Given the description of an element on the screen output the (x, y) to click on. 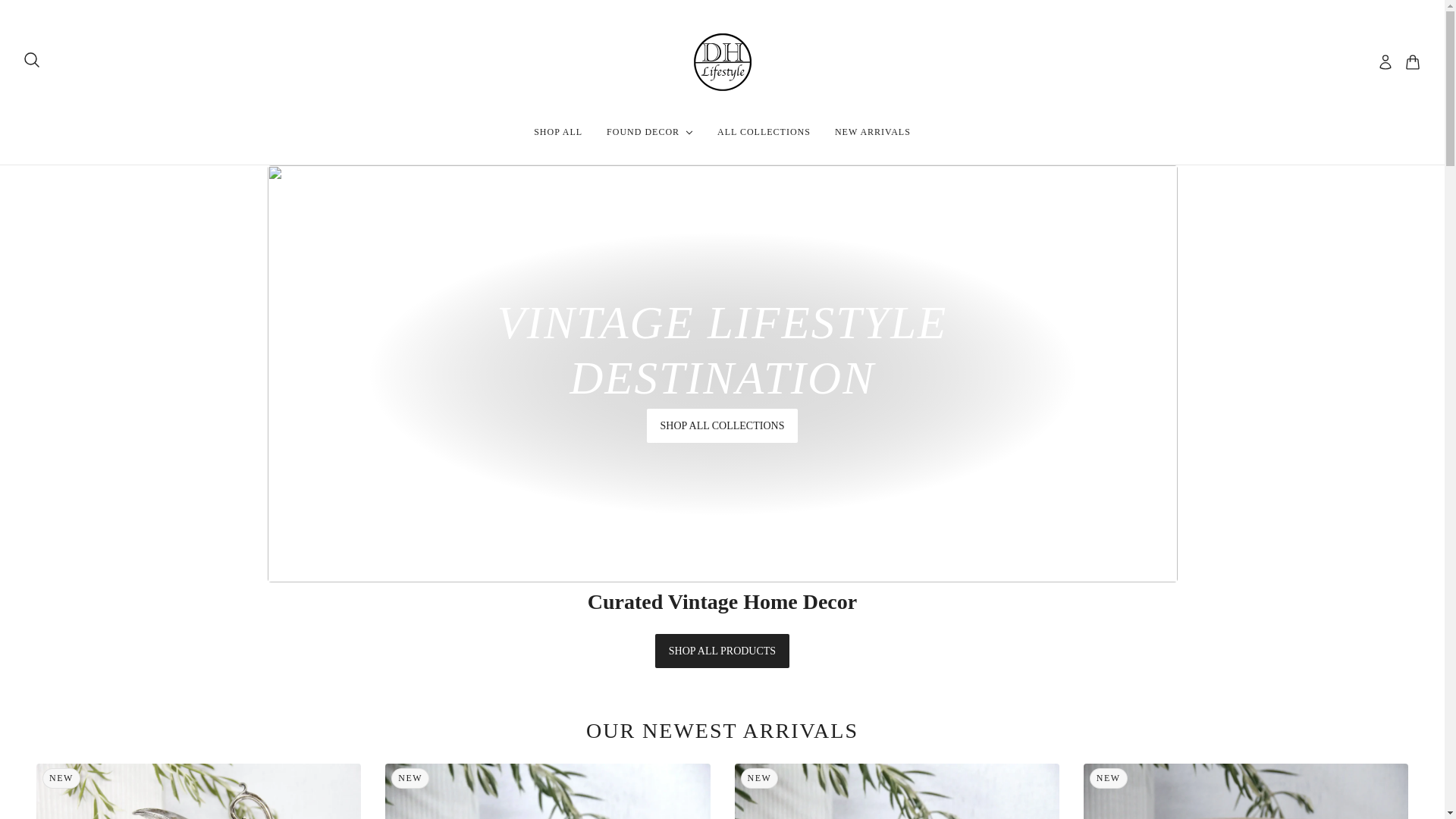
SHOP ALL PRODUCTS (722, 650)
Debra Hall Lifestyle (722, 730)
NEW ARRIVALS (722, 61)
ALL COLLECTIONS (872, 131)
FOUND DECOR (763, 131)
SHOP ALL (649, 131)
